Given the description of an element on the screen output the (x, y) to click on. 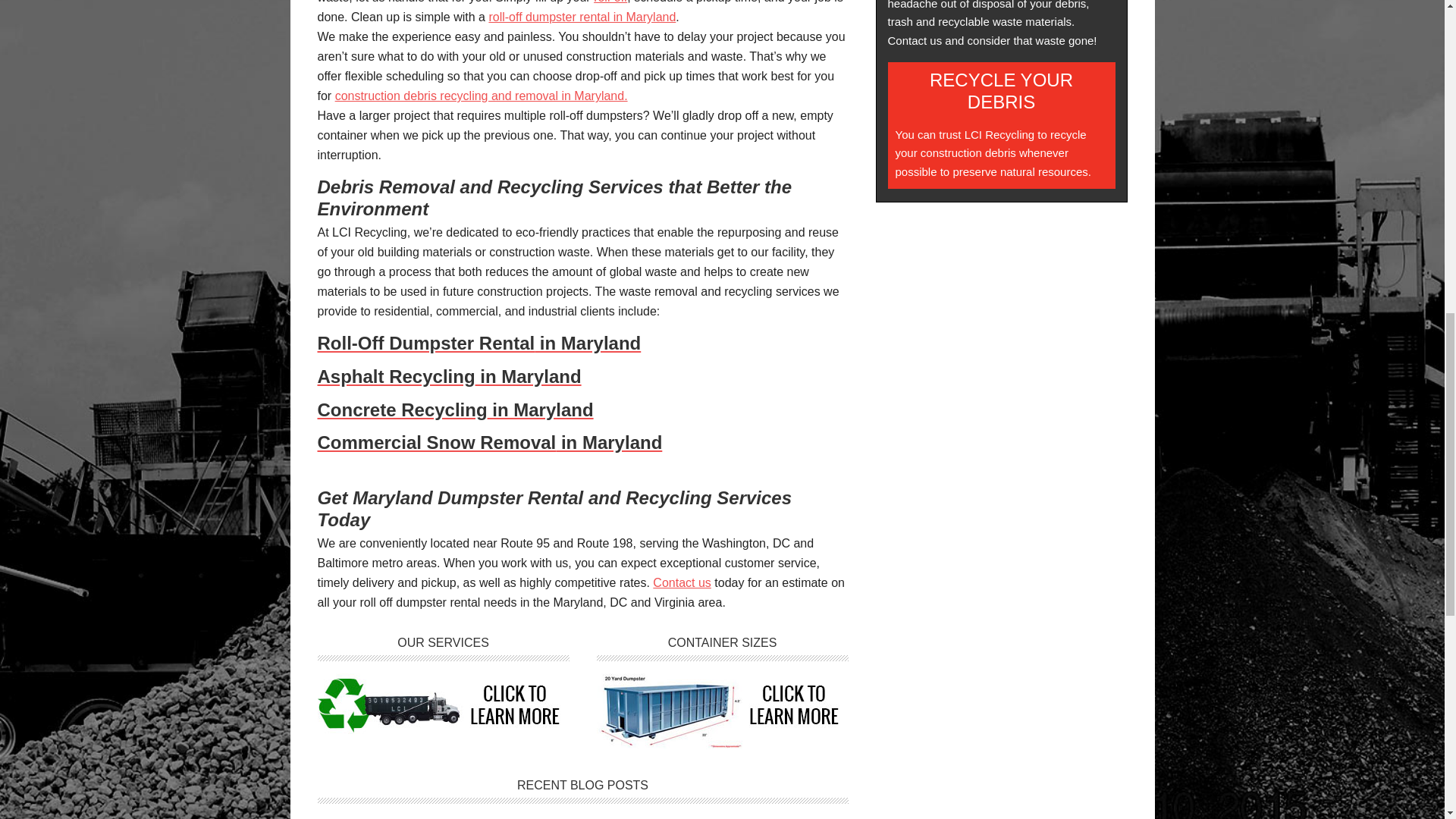
roll-off dumpster rental in Maryland (581, 16)
construction debris recycling and removal in Maryland. (480, 95)
Concrete Recycling in Maryland (582, 410)
Roll-Off Dumpster Rental in Maryland (582, 357)
Commercial Snow Removal in Maryland (582, 452)
Contact us (681, 582)
roll-off (610, 2)
Asphalt Recycling in Maryland (582, 377)
